Given the description of an element on the screen output the (x, y) to click on. 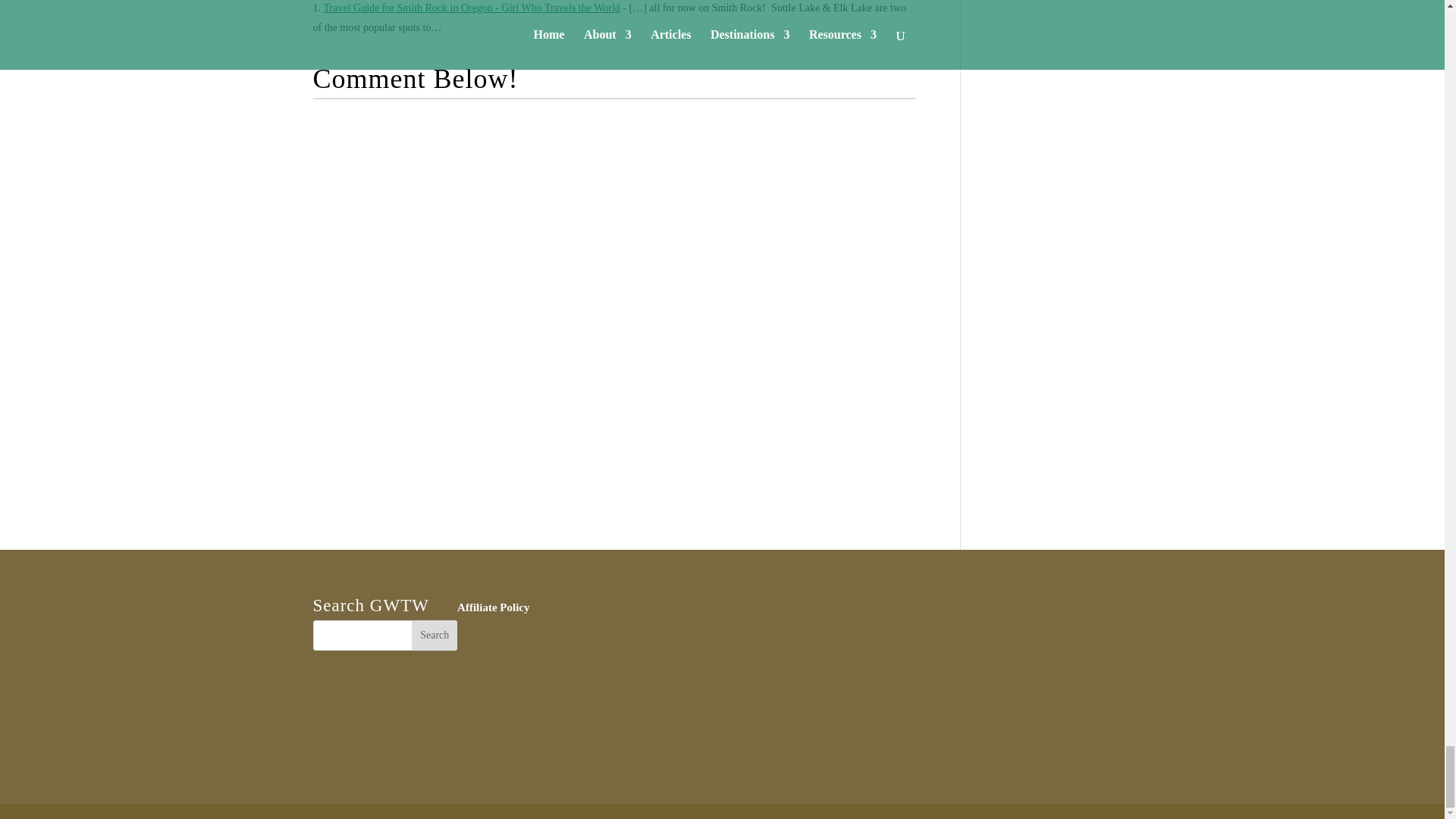
Search (434, 634)
